Given the description of an element on the screen output the (x, y) to click on. 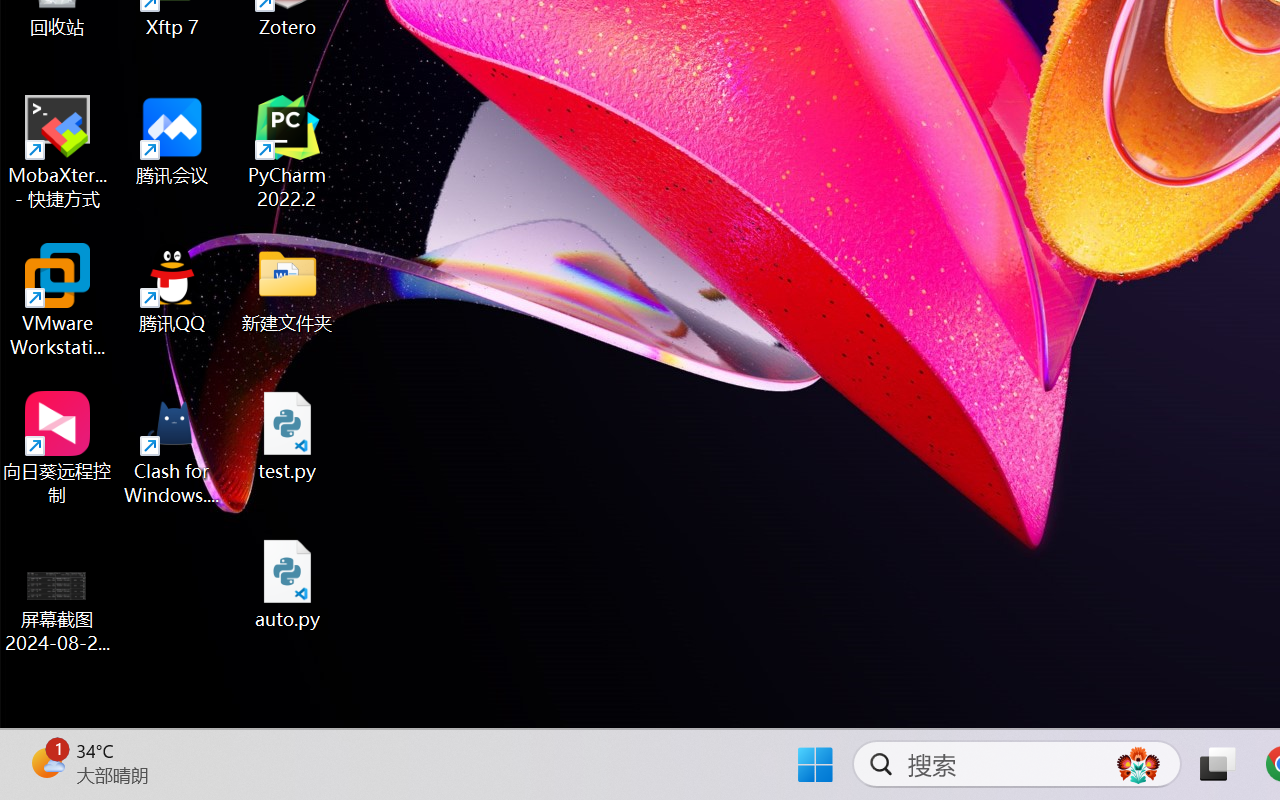
VMware Workstation Pro (57, 300)
auto.py (287, 584)
